Given the description of an element on the screen output the (x, y) to click on. 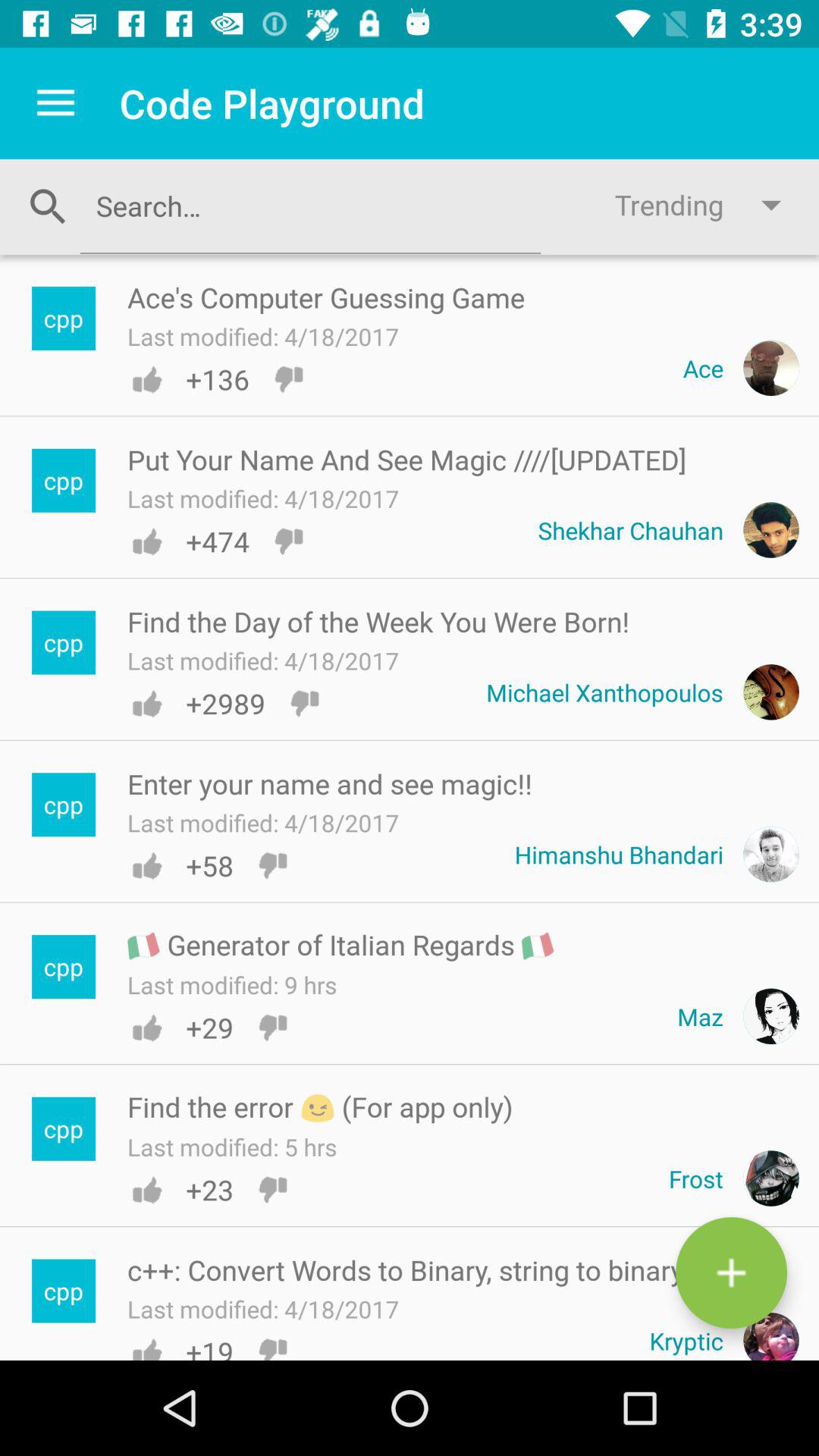
enter search term (310, 205)
